Given the description of an element on the screen output the (x, y) to click on. 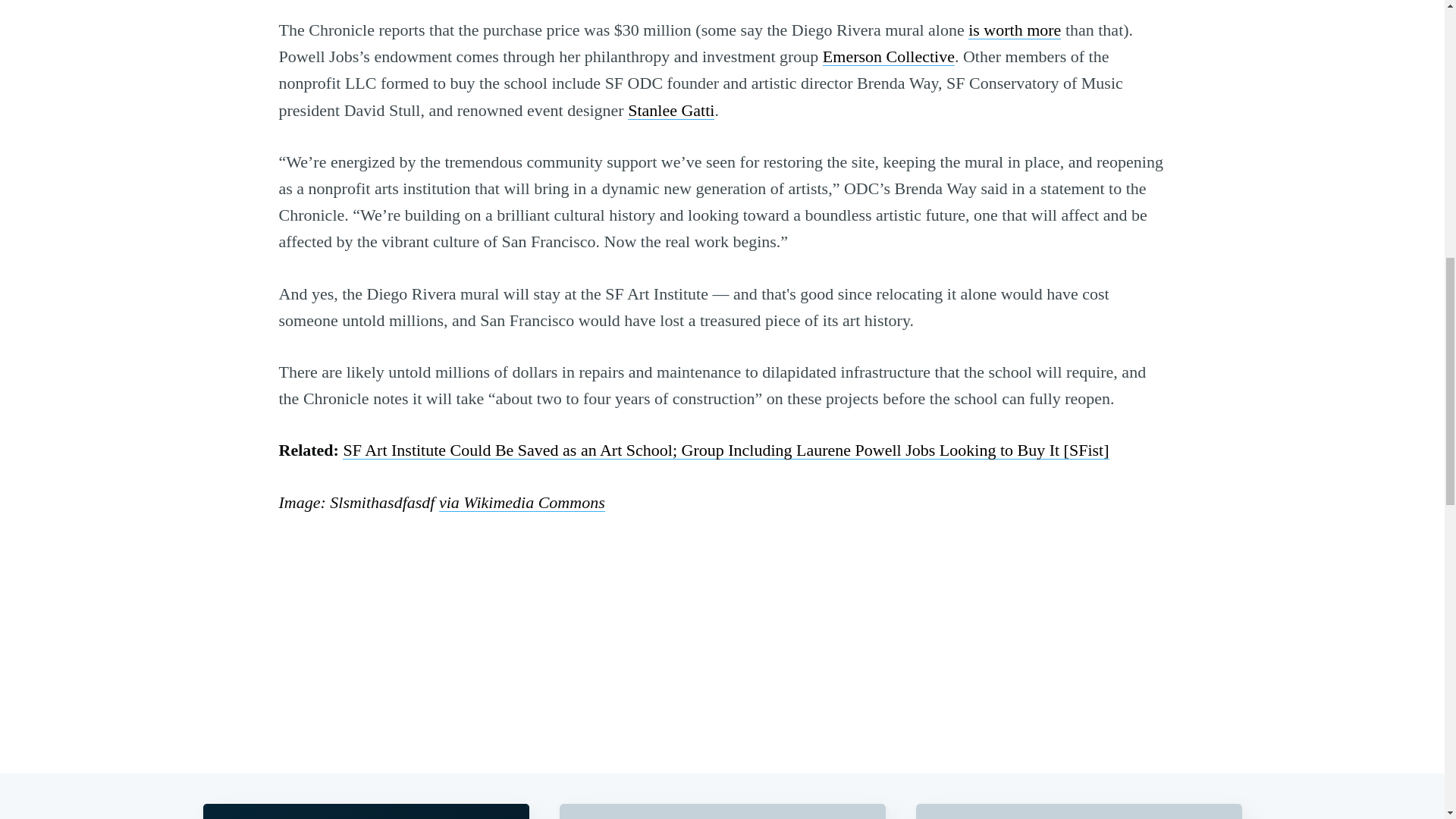
via Wikimedia Commons (522, 502)
Stanlee Gatti (670, 109)
Emerson Collective (888, 56)
is worth more (1014, 29)
